Given the description of an element on the screen output the (x, y) to click on. 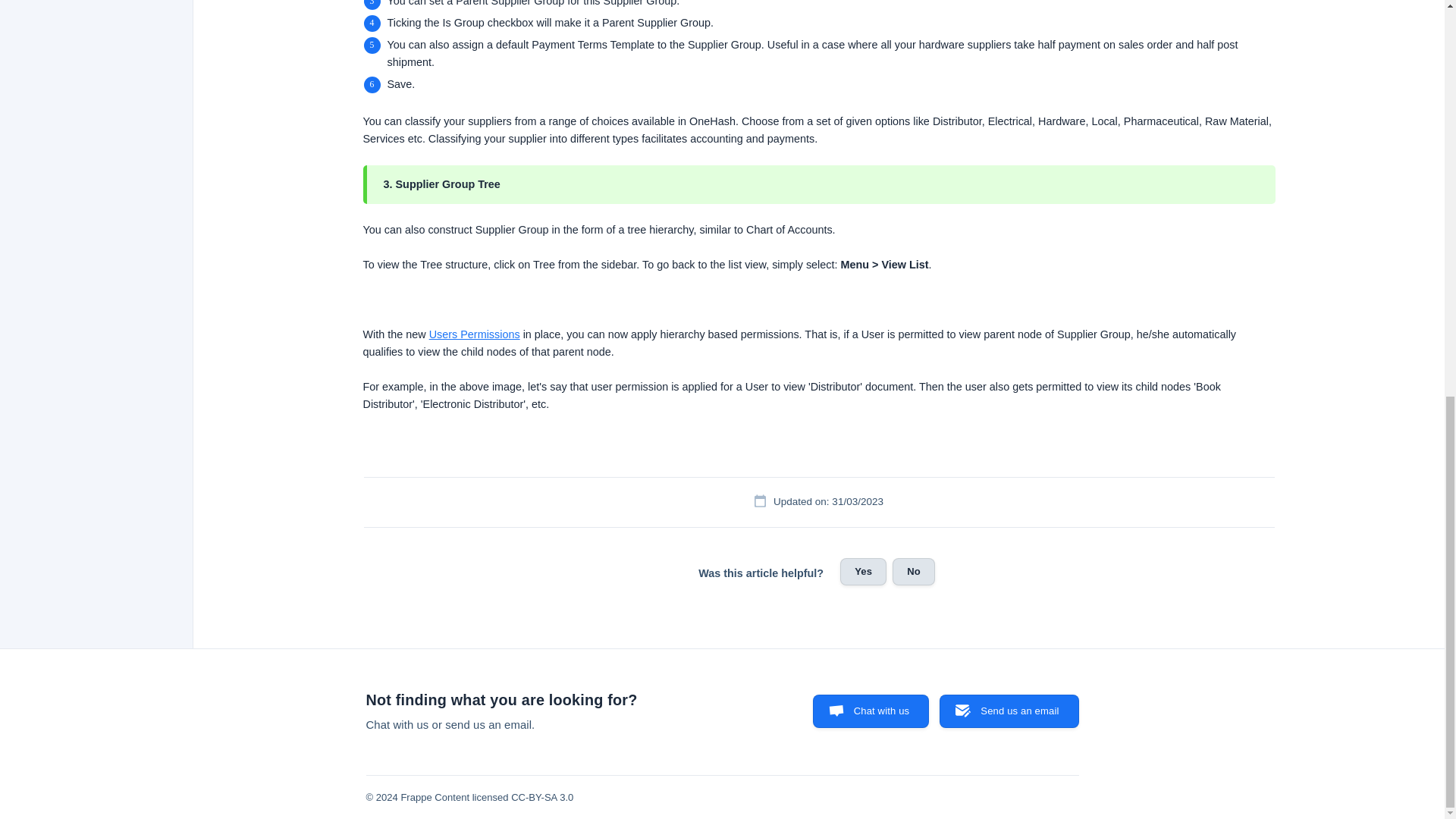
Yes (863, 571)
Users Permissions (474, 334)
Chat with us (871, 711)
No (913, 571)
Send us an email (1008, 711)
